Given the description of an element on the screen output the (x, y) to click on. 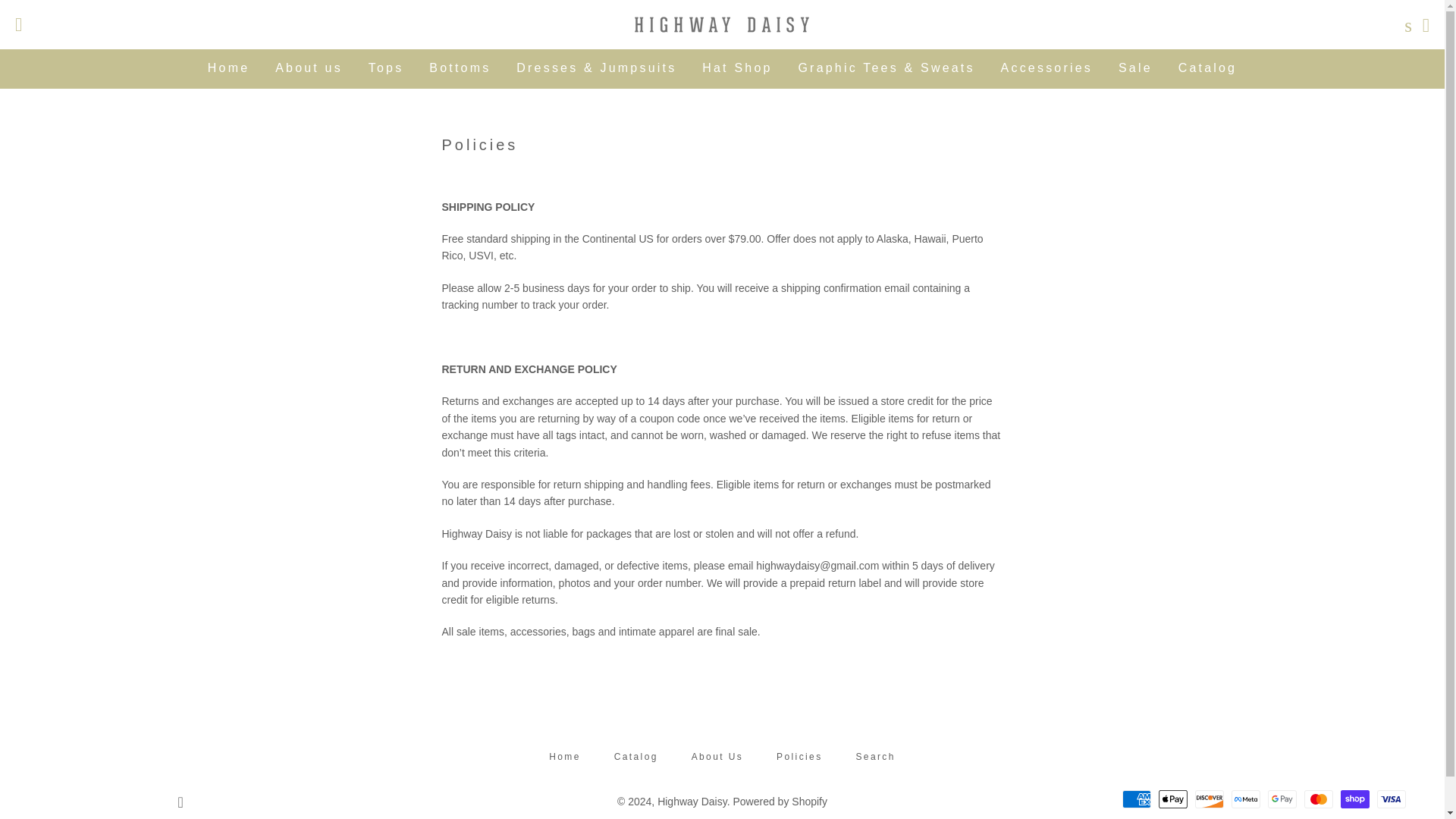
About Us (717, 756)
Search (875, 756)
Policies (799, 756)
Meta Pay (1245, 799)
Google Pay (1282, 799)
Discover (1209, 799)
American Express (1136, 799)
Tops (385, 67)
Home (228, 67)
Bottoms (459, 67)
